Given the description of an element on the screen output the (x, y) to click on. 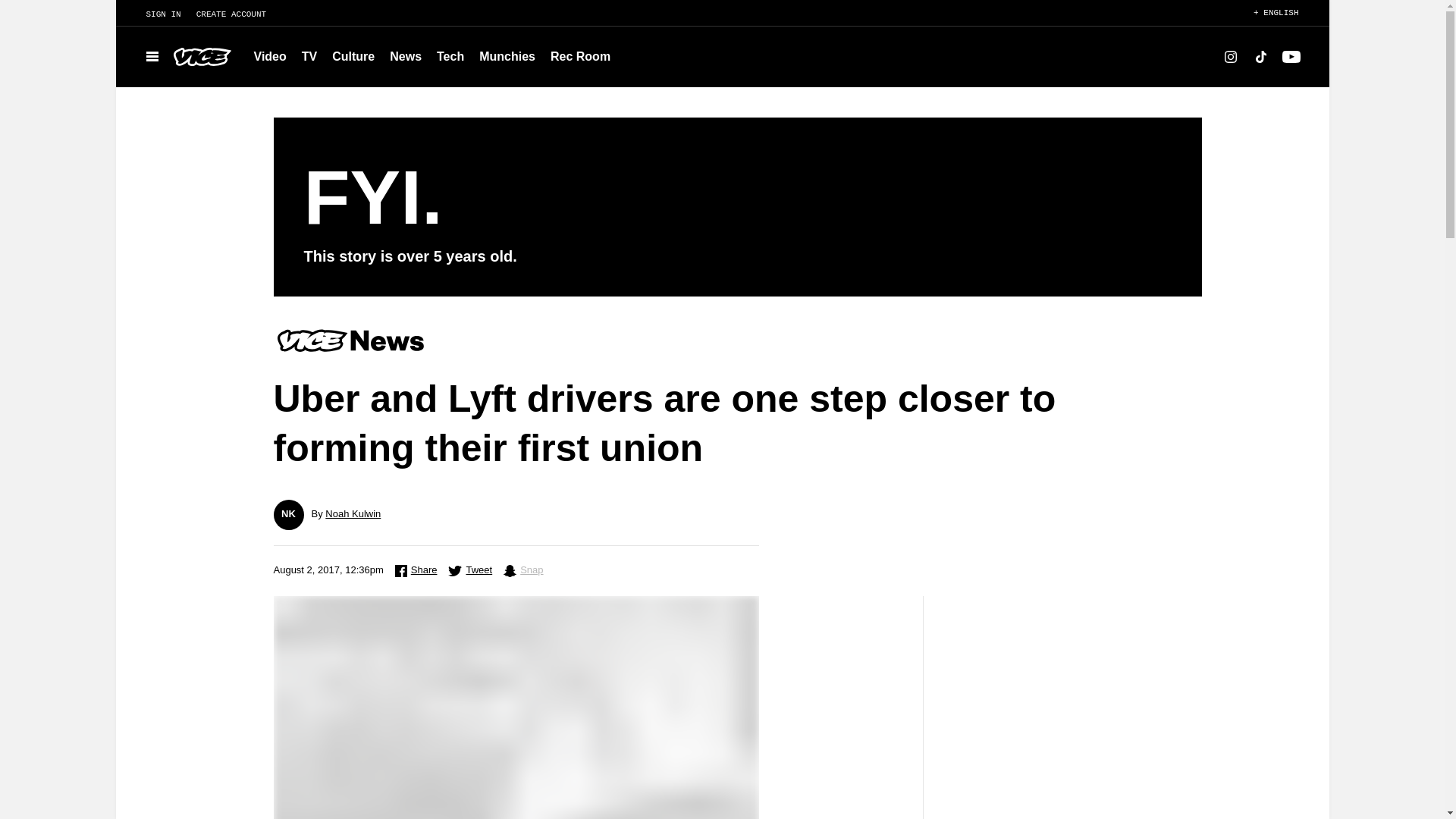
Share on Snapchat (523, 570)
Tech (450, 56)
CREATE ACCOUNT (238, 13)
Video (270, 56)
Rec Room (580, 56)
Munchies (507, 56)
SIGN IN (155, 13)
News (405, 56)
Culture (352, 56)
TV (309, 56)
